Given the description of an element on the screen output the (x, y) to click on. 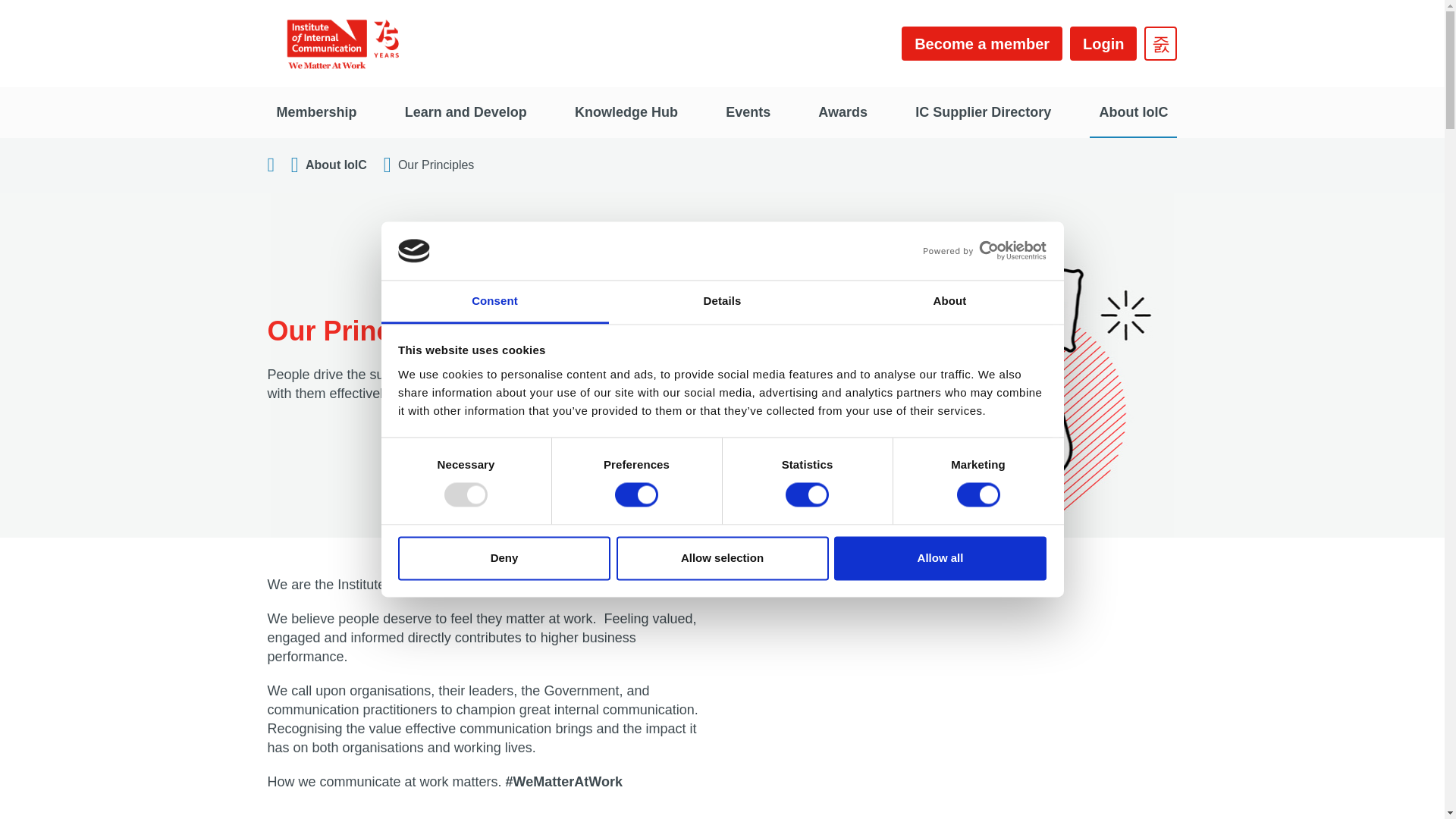
About (948, 301)
Details (721, 301)
Consent (494, 301)
